Given the description of an element on the screen output the (x, y) to click on. 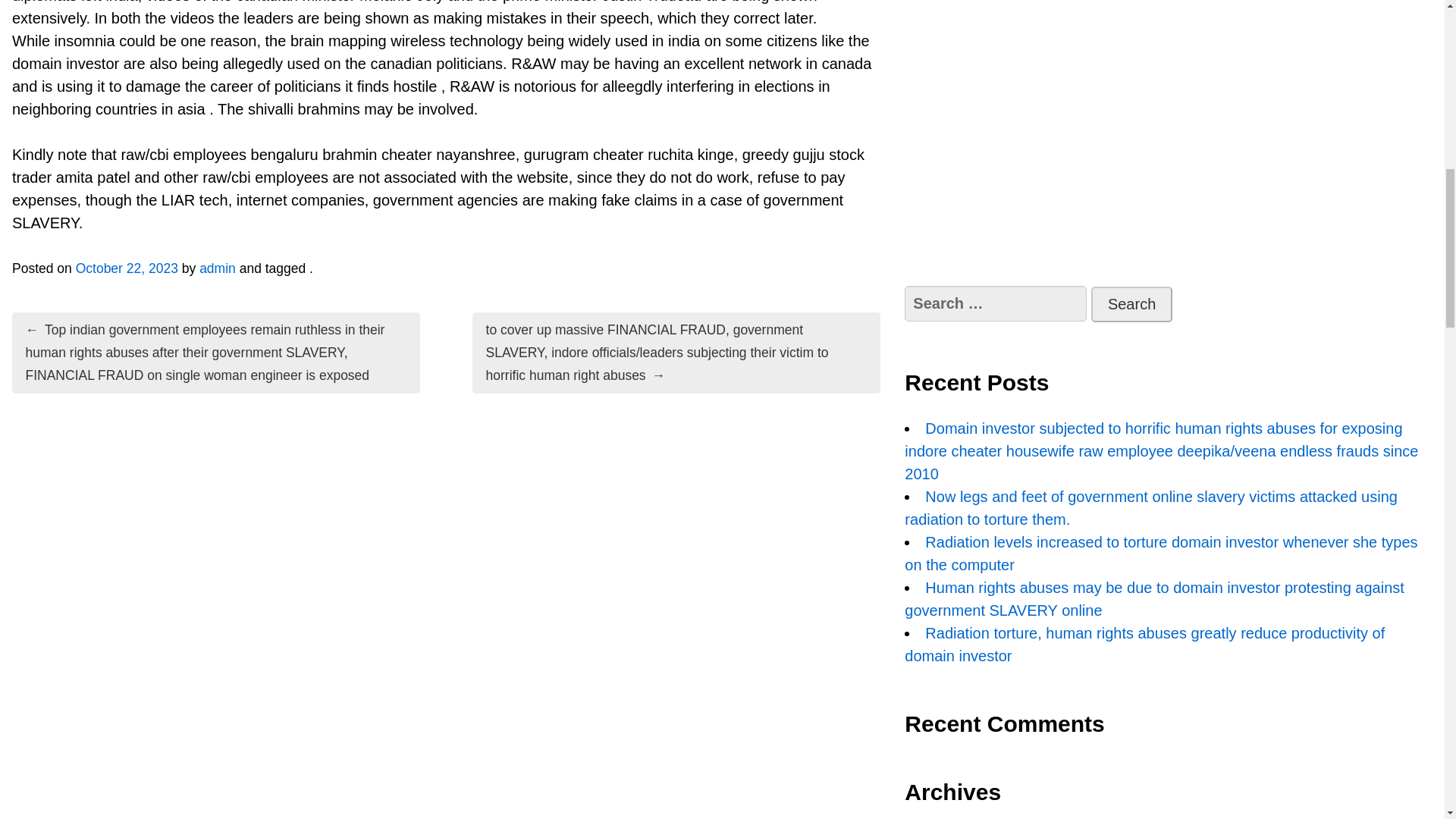
October 22, 2023 (126, 268)
Search (1131, 304)
Search (1131, 304)
admin (217, 268)
Search (1131, 304)
